Given the description of an element on the screen output the (x, y) to click on. 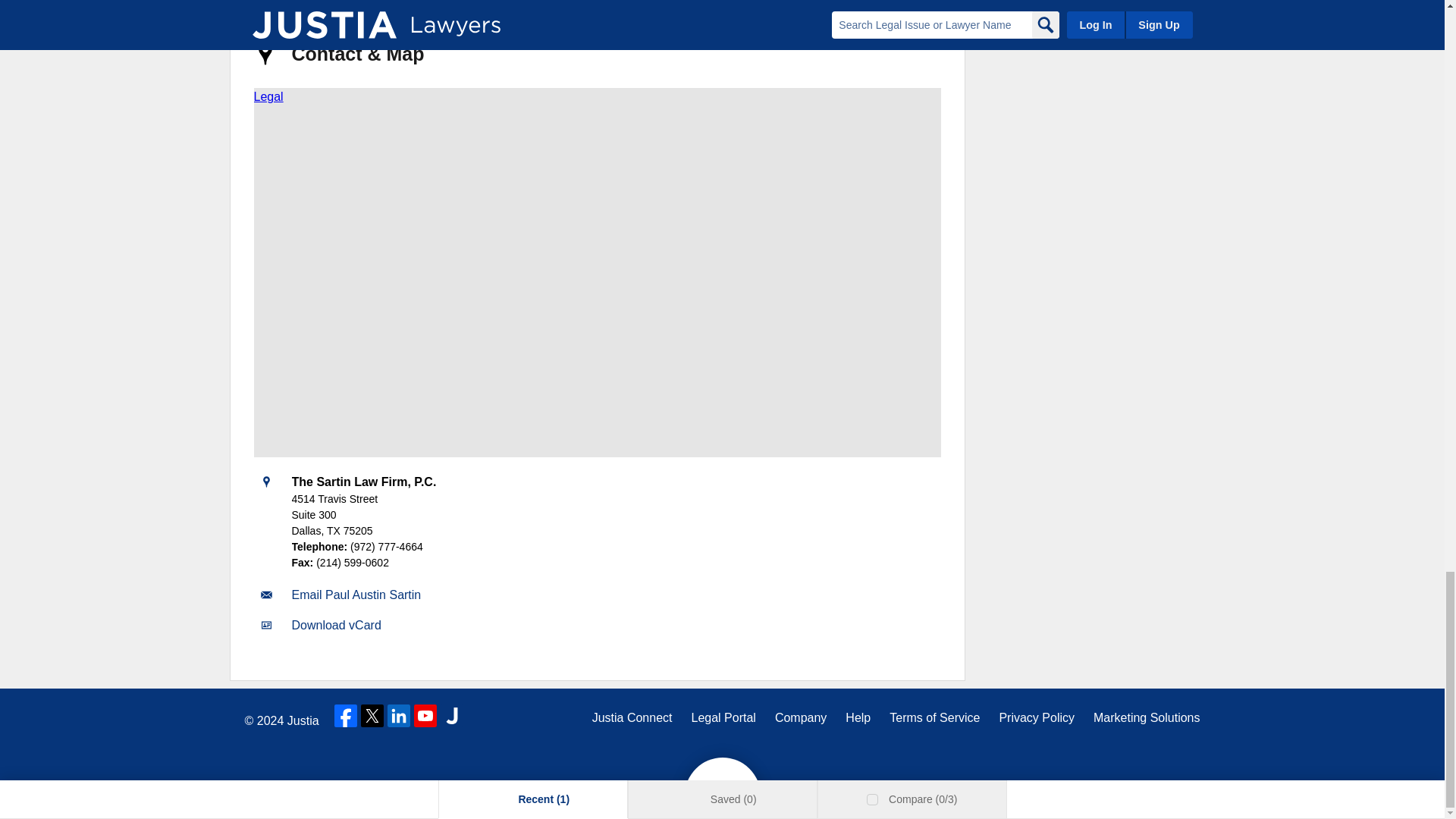
Email Paul Austin Sartin (355, 594)
